Given the description of an element on the screen output the (x, y) to click on. 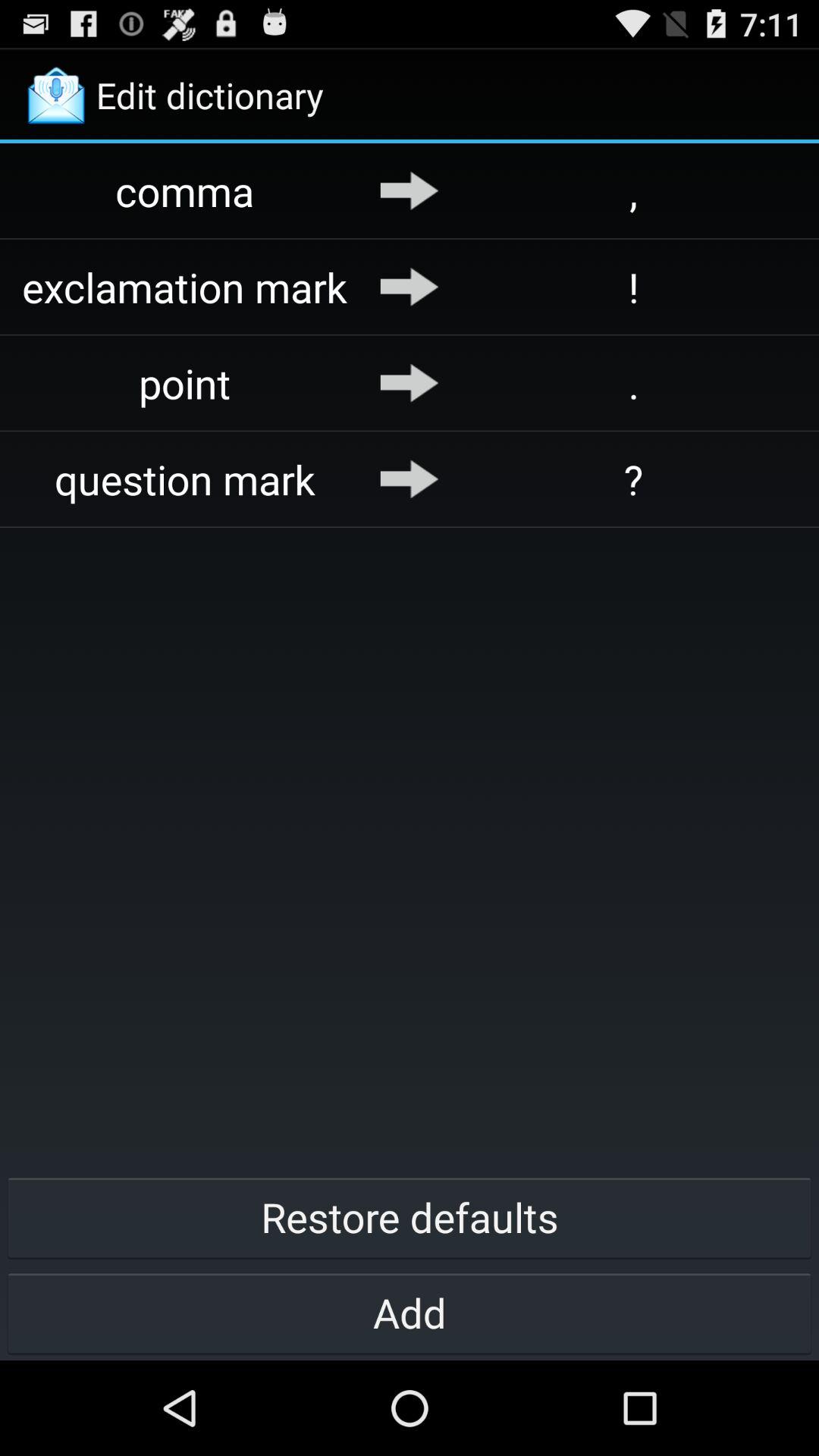
turn off comma app (185, 190)
